Given the description of an element on the screen output the (x, y) to click on. 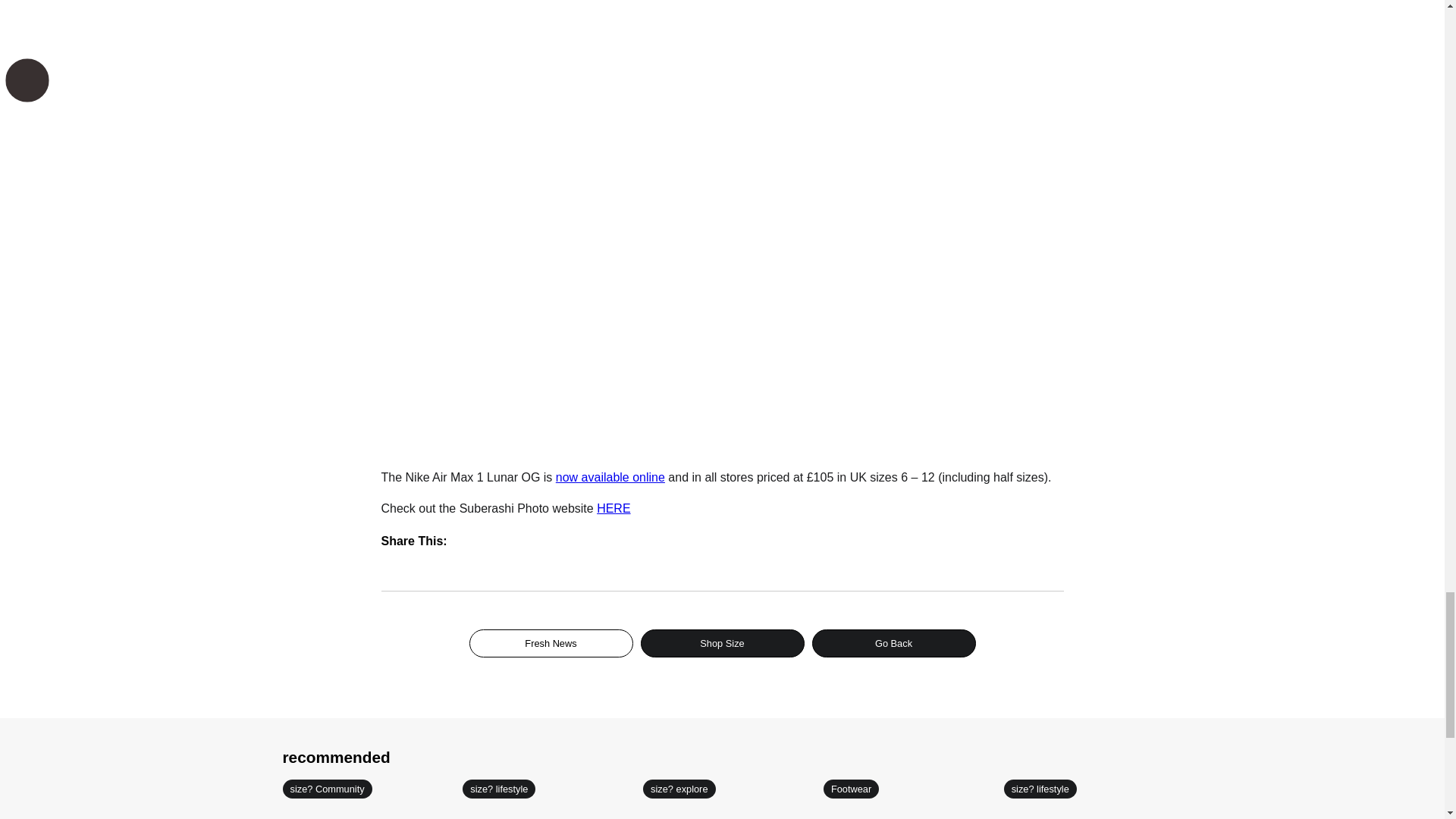
now available online (610, 477)
